Given the description of an element on the screen output the (x, y) to click on. 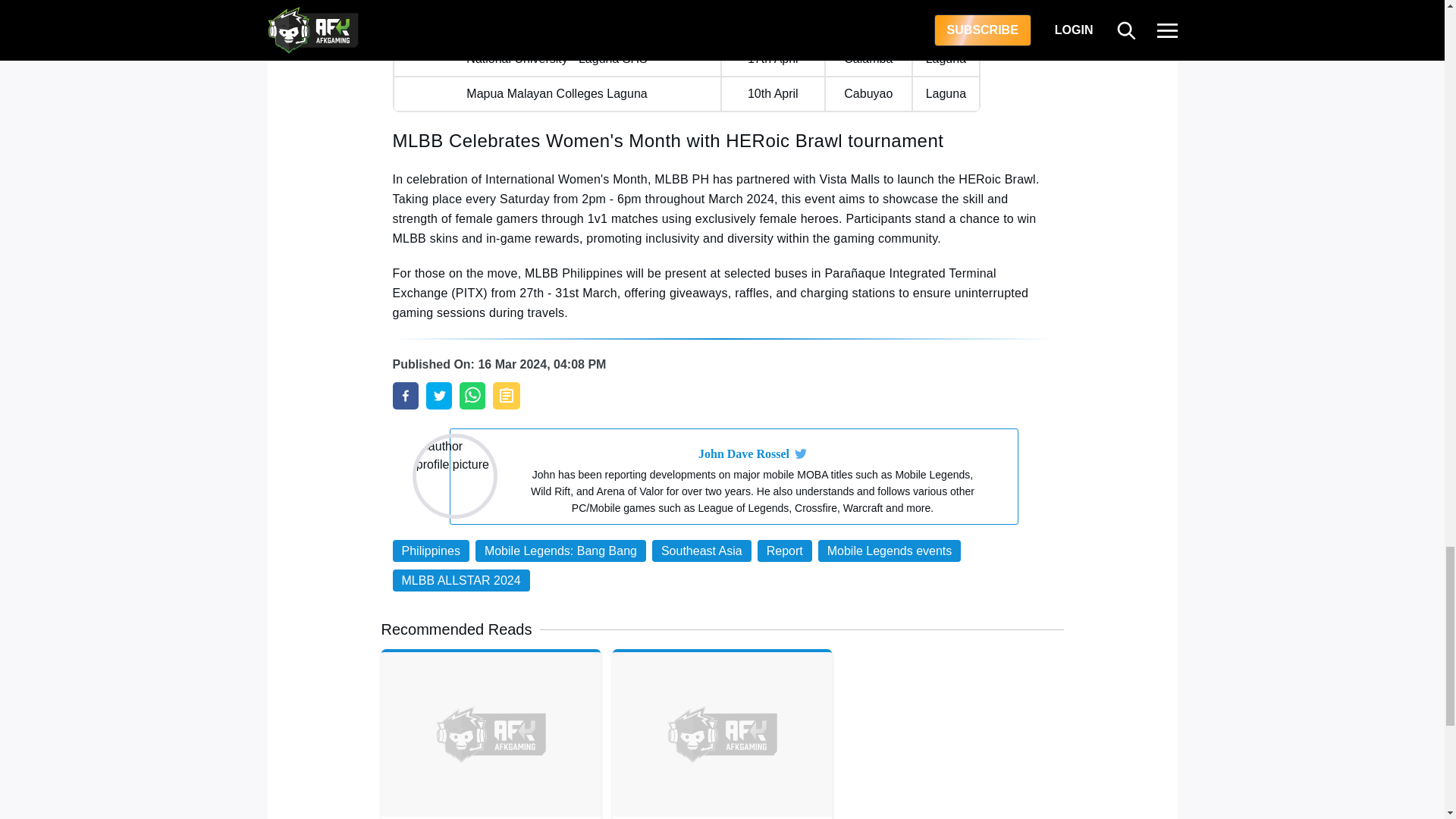
Southeast Asia (701, 550)
MLBB ALLSTAR 2024 (461, 580)
Mobile Legends events (889, 550)
Mobile Legends: Bang Bang (561, 550)
John Dave Rossel (743, 454)
Philippines (430, 550)
Report (784, 550)
